Given the description of an element on the screen output the (x, y) to click on. 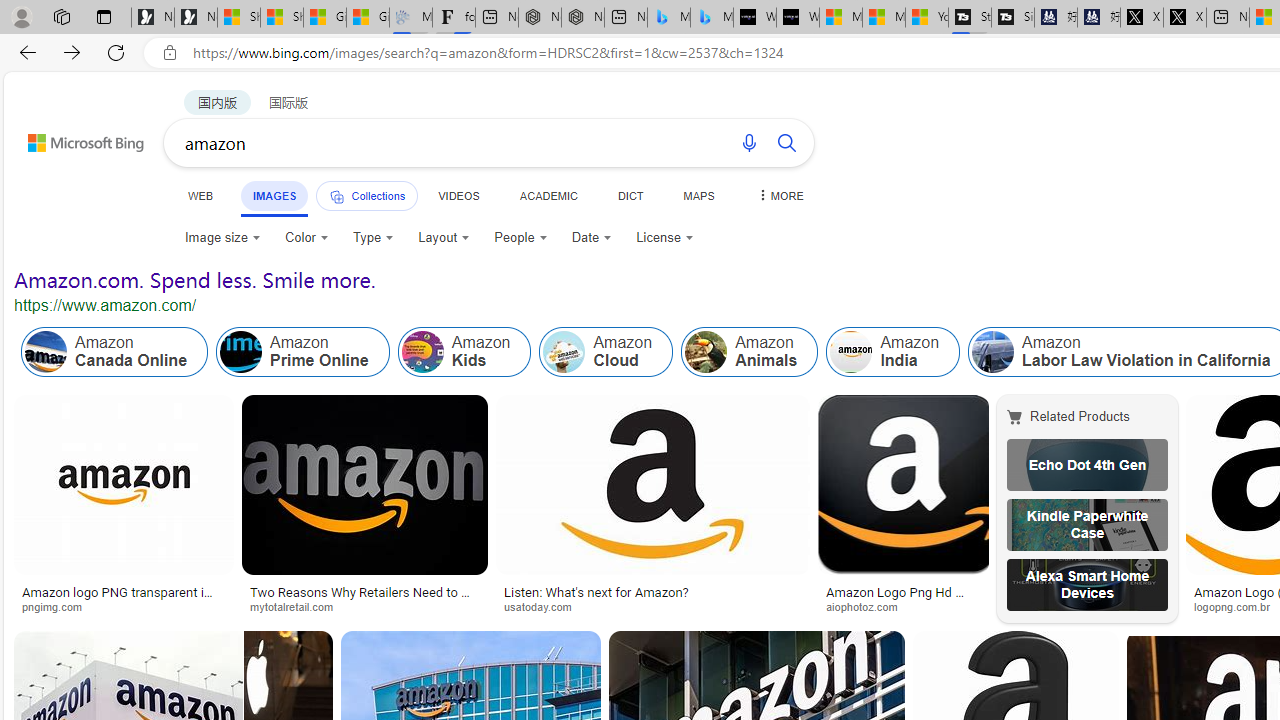
DICT (630, 195)
License (665, 237)
Dropdown Menu (779, 195)
Amazon Kids (422, 351)
pngimg.com (58, 605)
Amazon Logo Png Hd Wallpaper | Images and Photos finder (903, 598)
Image result for amazon (903, 485)
Shanghai, China weather forecast | Microsoft Weather (282, 17)
Class: item col (893, 351)
Layout (443, 237)
Microsoft Bing Travel - Stays in Bangkok, Bangkok, Thailand (668, 17)
Amazon Canada Online (45, 351)
People (521, 237)
